Given the description of an element on the screen output the (x, y) to click on. 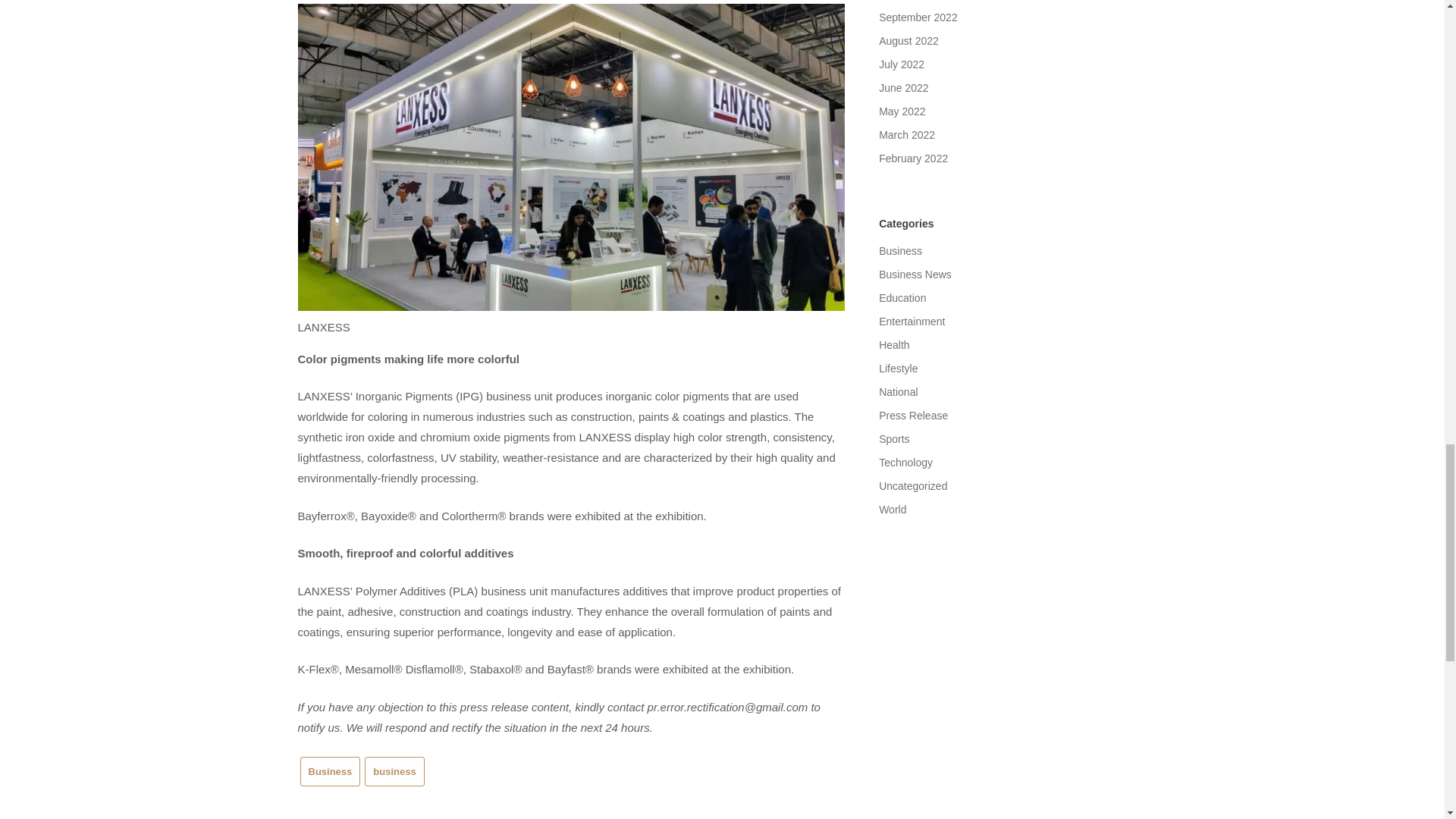
Business (330, 771)
business (394, 771)
